Given the description of an element on the screen output the (x, y) to click on. 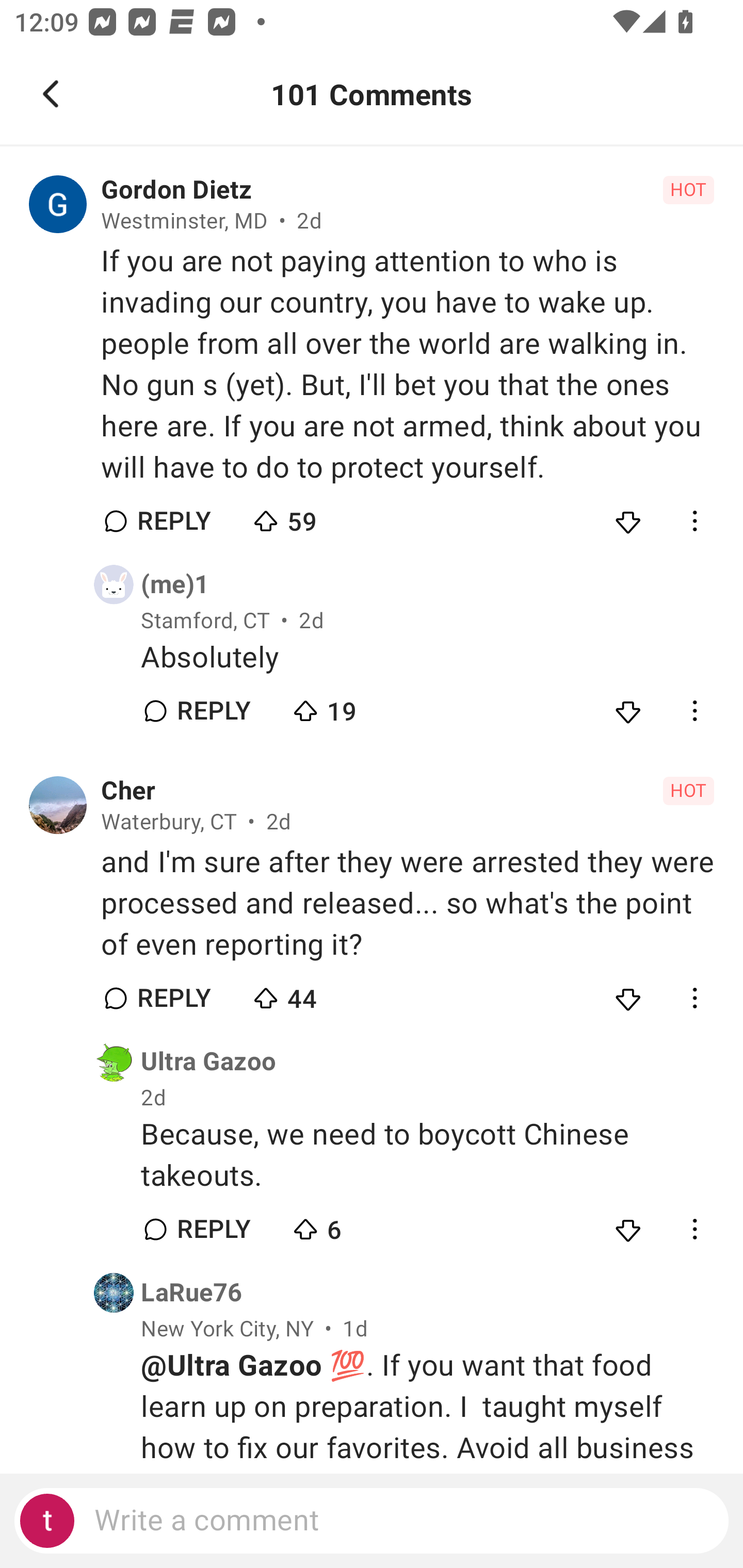
Navigate up (50, 93)
Gordon Dietz (176, 190)
59 (320, 516)
REPLY (173, 521)
(me)1 (175, 583)
Absolutely (427, 657)
19 (360, 706)
REPLY (213, 711)
Cher (128, 790)
44 (320, 993)
REPLY (173, 998)
Ultra Gazoo (208, 1062)
Because, we need to boycott Chinese takeouts. (427, 1155)
6 (360, 1225)
REPLY (213, 1229)
LaRue76 (191, 1292)
Write a comment (371, 1520)
